Given the description of an element on the screen output the (x, y) to click on. 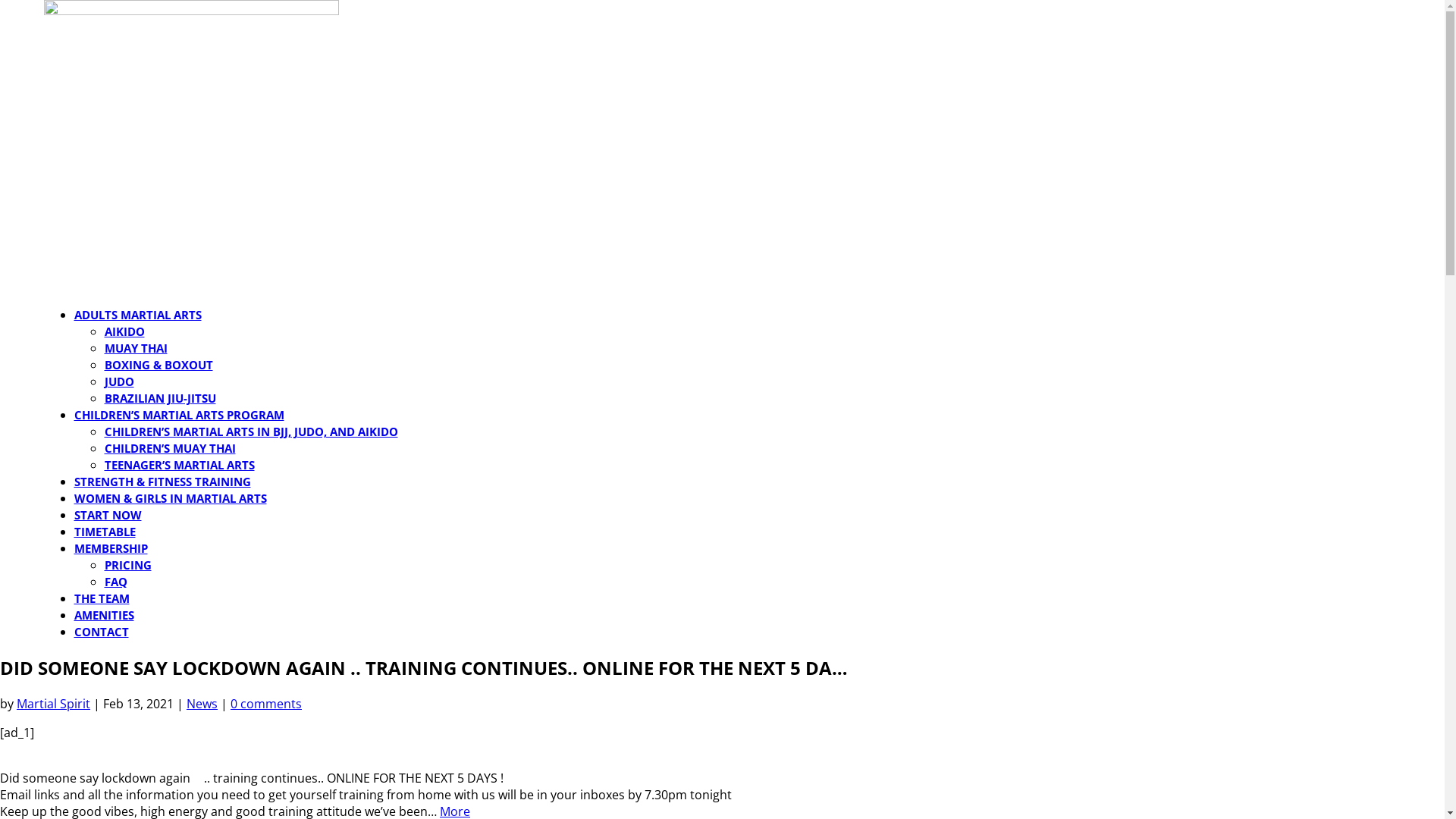
TIMETABLE Element type: text (104, 531)
JUDO Element type: text (119, 381)
ADULTS MARTIAL ARTS Element type: text (137, 314)
BRAZILIAN JIU-JITSU Element type: text (160, 397)
STRENGTH & FITNESS TRAINING Element type: text (162, 481)
0 comments Element type: text (265, 703)
AIKIDO Element type: text (124, 330)
AMENITIES Element type: text (104, 614)
BOXING & BOXOUT Element type: text (158, 364)
MEMBERSHIP Element type: text (110, 547)
START NOW Element type: text (107, 514)
MUAY THAI Element type: text (135, 347)
News Element type: text (201, 703)
FAQ Element type: text (115, 581)
CONTACT Element type: text (101, 631)
Martial Spirit Element type: text (53, 703)
PRICING Element type: text (127, 564)
THE TEAM Element type: text (101, 597)
WOMEN & GIRLS IN MARTIAL ARTS Element type: text (170, 497)
